Given the description of an element on the screen output the (x, y) to click on. 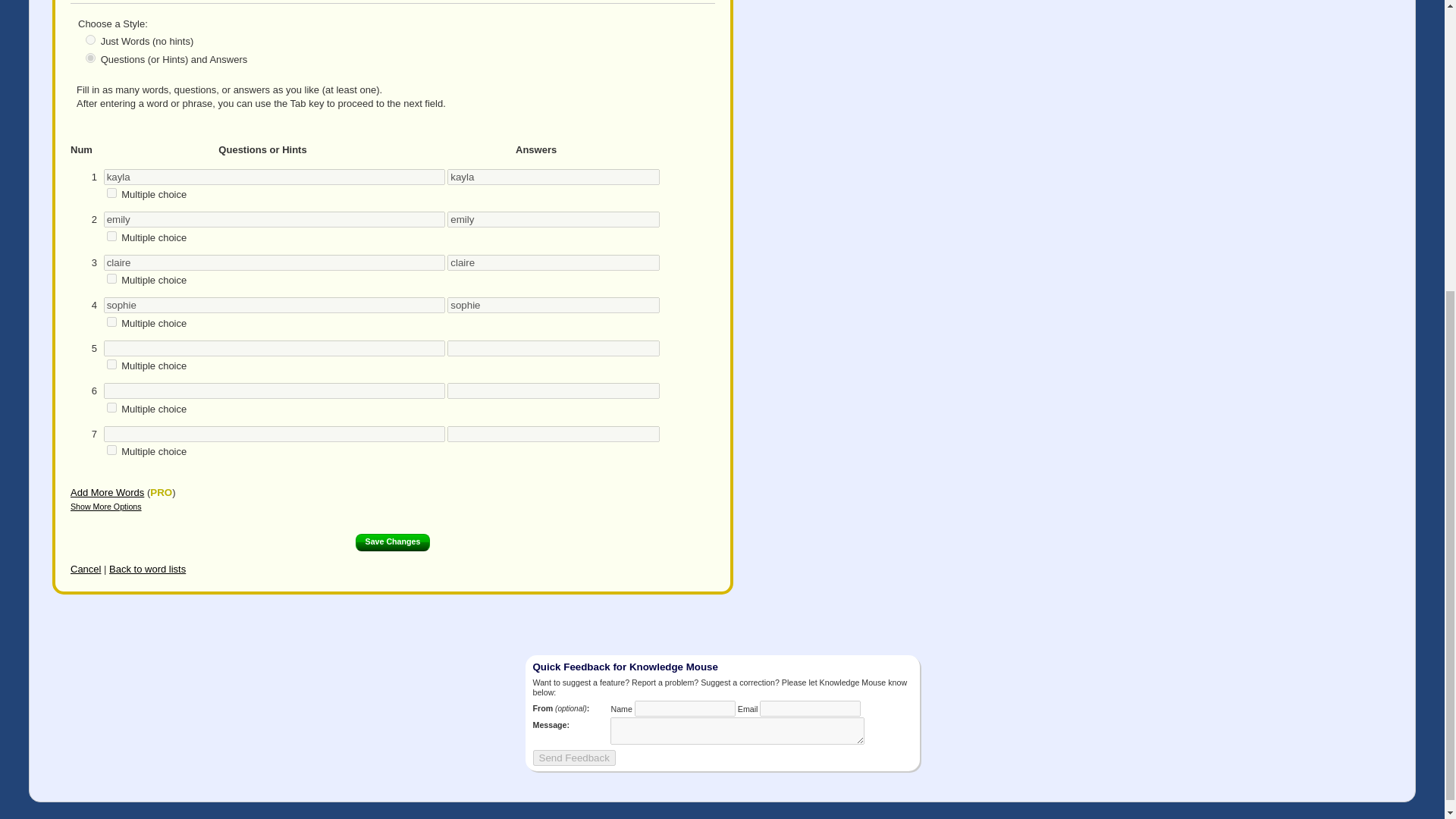
kayla (274, 176)
1 (111, 278)
Send Feedback (573, 757)
emily (552, 219)
sophie (552, 304)
Back to word lists (147, 568)
Show More Options (105, 506)
claire (274, 262)
Add More Words (106, 491)
Save Changes (392, 542)
kayla (552, 176)
1 (111, 235)
Cancel (84, 568)
1 (111, 321)
1 (111, 193)
